Given the description of an element on the screen output the (x, y) to click on. 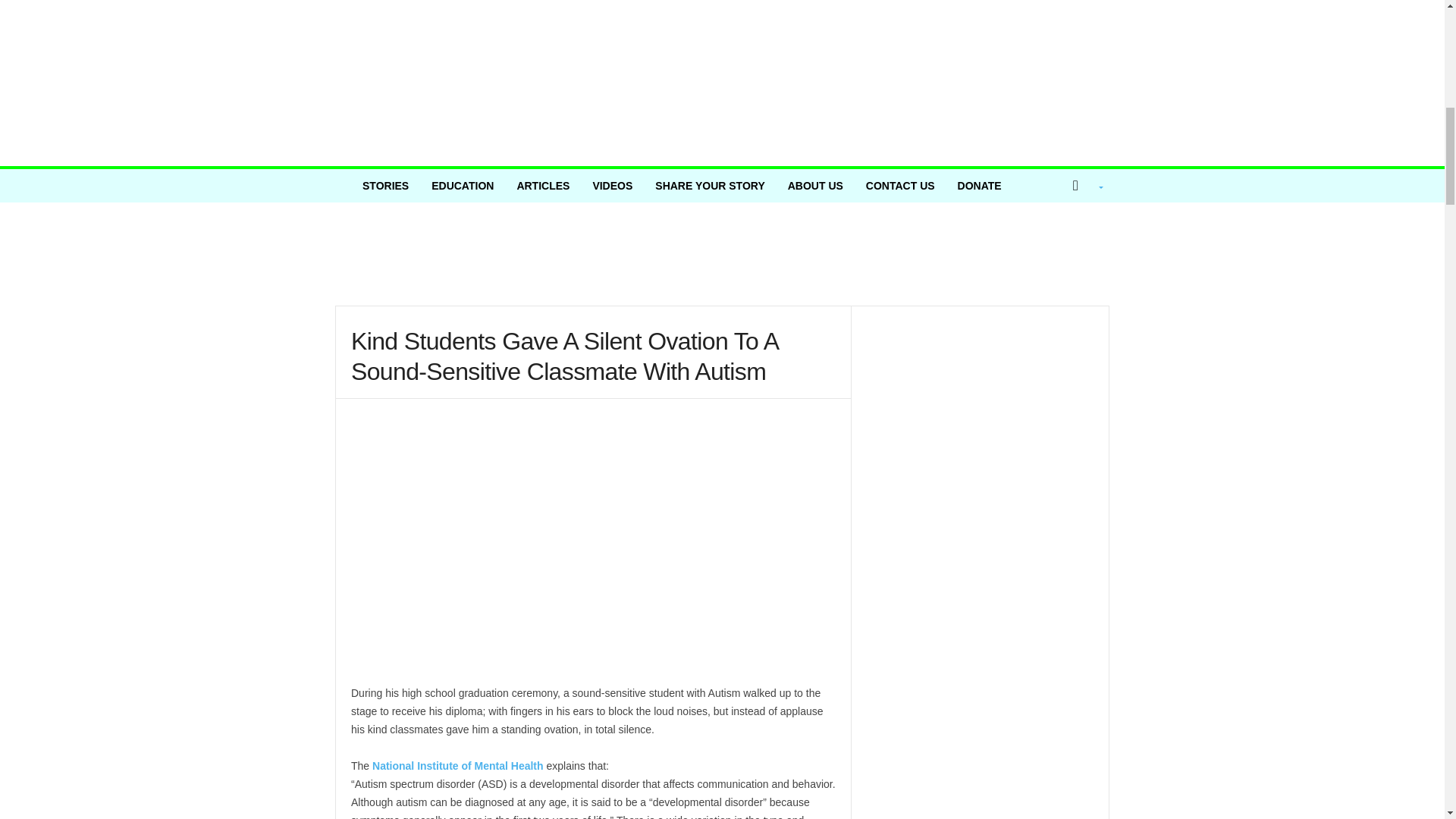
EDUCATION (462, 185)
STORIES (385, 185)
ARTICLES (542, 185)
